Given the description of an element on the screen output the (x, y) to click on. 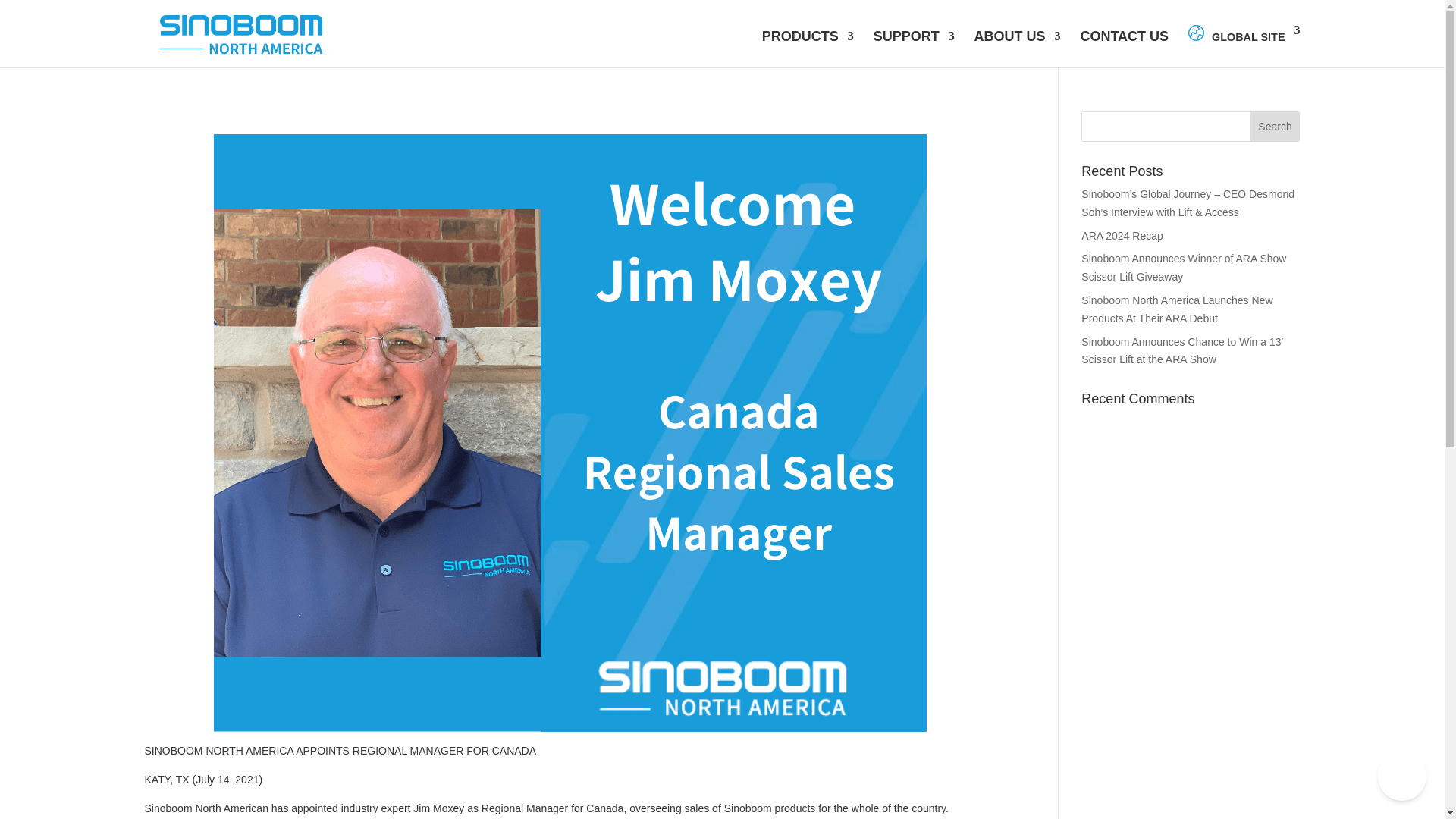
SUPPORT (914, 48)
GLOBAL SITE (1244, 46)
ABOUT US (1017, 48)
CONTACT US (1124, 48)
Search (1275, 126)
PRODUCTS (807, 48)
Botpress (1401, 776)
